Given the description of an element on the screen output the (x, y) to click on. 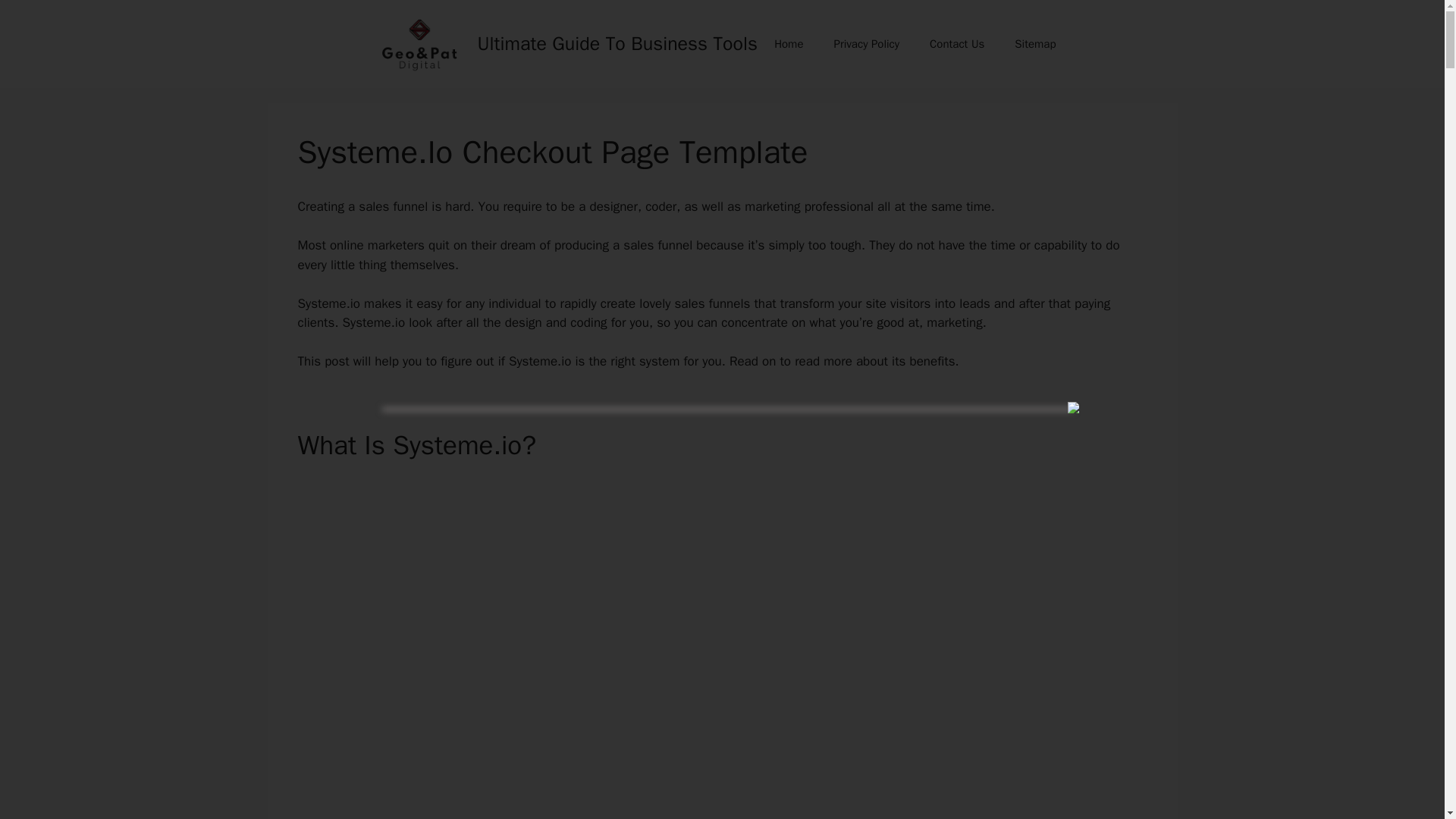
Privacy Policy (866, 43)
Ultimate Guide To Business Tools (617, 43)
Home (788, 43)
Sitemap (1034, 43)
Contact Us (956, 43)
